Given the description of an element on the screen output the (x, y) to click on. 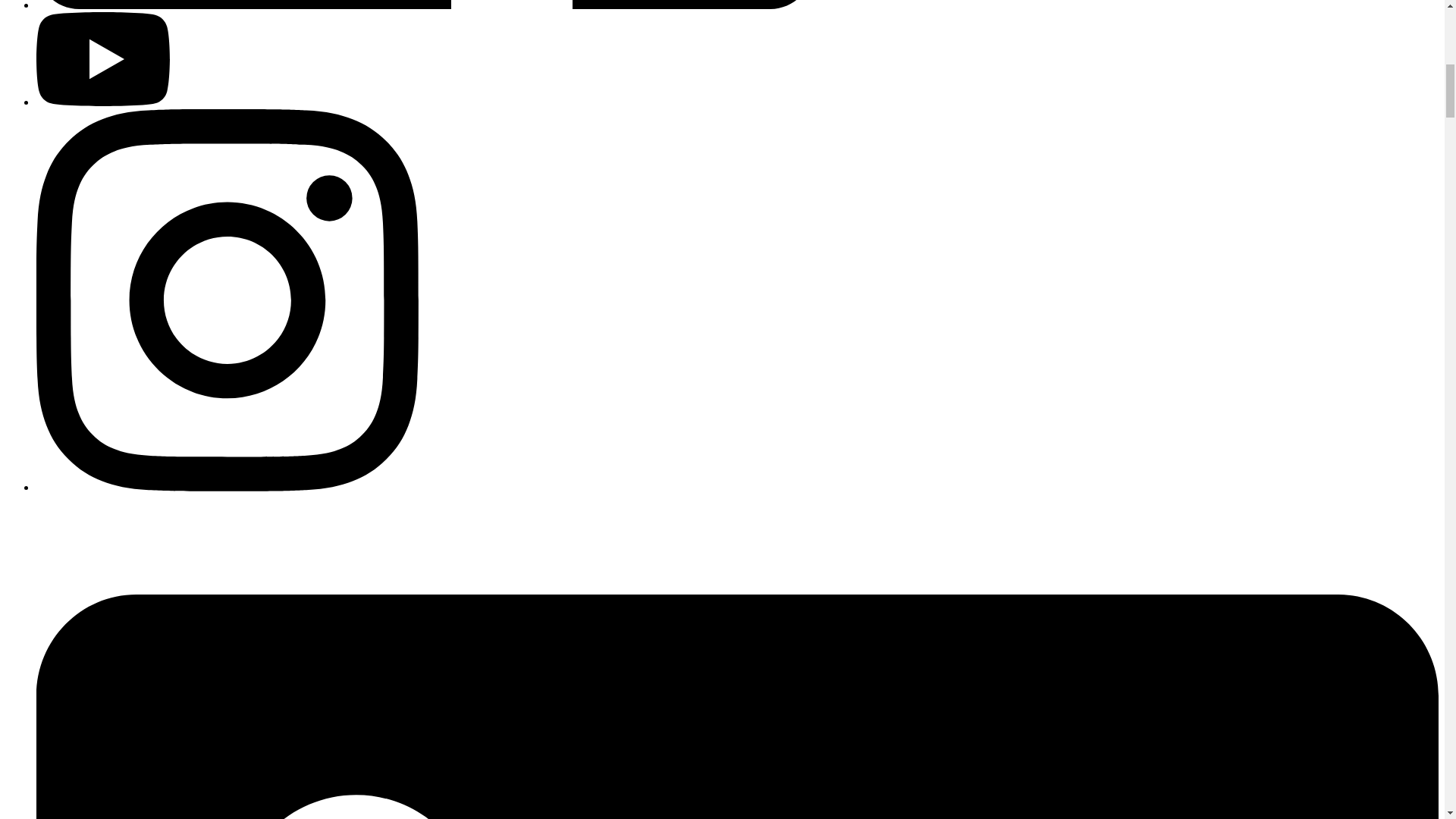
Youtube (103, 101)
Facebook (424, 5)
Instagram (227, 486)
